Given the description of an element on the screen output the (x, y) to click on. 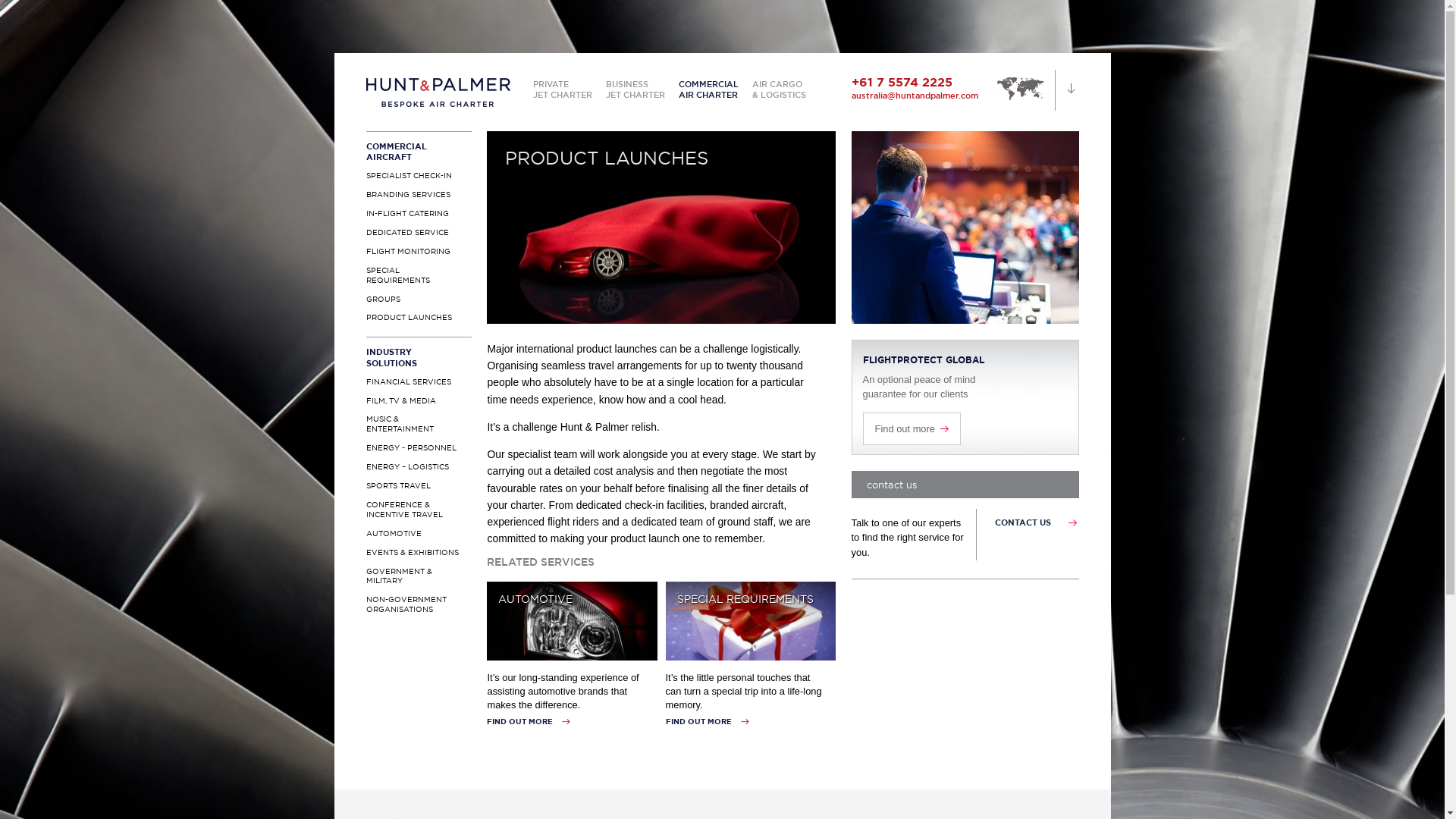
Find out more Element type: text (911, 428)
PRIVATE
JET CHARTER Element type: text (561, 89)
AIR CARGO
& LOGISTICS Element type: text (779, 89)
BUSINESS
JET CHARTER Element type: text (634, 89)
Hunt & Palmer - Bespoke Air Charter Element type: text (437, 100)
SPORTS TRAVEL Element type: text (418, 486)
FLIGHT MONITORING Element type: text (418, 252)
AUTOMOTIVE Element type: text (571, 620)
  Element type: text (1025, 87)
CONTACT US Element type: text (1022, 522)
IN-FLIGHT CATERING Element type: text (418, 214)
AUTOMOTIVE Element type: text (418, 534)
NON-GOVERNMENT ORGANISATIONS Element type: text (418, 605)
MUSIC & ENTERTAINMENT Element type: text (418, 424)
FILM, TV & MEDIA Element type: text (418, 401)
EVENTS & EXHIBITIONS Element type: text (418, 553)
FIND OUT MORE Element type: text (707, 721)
SPECIAL REQUIREMENTS Element type: text (418, 275)
GOVERNMENT & MILITARY Element type: text (418, 576)
FINANCIAL SERVICES Element type: text (418, 382)
BRANDING SERVICES Element type: text (418, 195)
+61 7 5574 2225 Element type: text (900, 82)
SPECIALIST CHECK-IN Element type: text (418, 176)
INDUSTRY SOLUTIONS Element type: text (418, 356)
Languages Element type: text (1066, 89)
GROUPS Element type: text (418, 299)
PRODUCT LAUNCHES Element type: text (418, 318)
contact us Element type: text (965, 484)
FIND OUT MORE Element type: text (528, 721)
COMMERCIAL
AIR CHARTER Element type: text (707, 89)
DEDICATED SERVICE Element type: text (418, 233)
australia@huntandpalmer.com Element type: text (913, 95)
SPECIAL REQUIREMENTS Element type: text (750, 620)
ENERGY - PERSONNEL Element type: text (418, 448)
COMMERCIAL AIRCRAFT Element type: text (418, 151)
CONFERENCE & INCENTIVE TRAVEL Element type: text (418, 510)
